Given the description of an element on the screen output the (x, y) to click on. 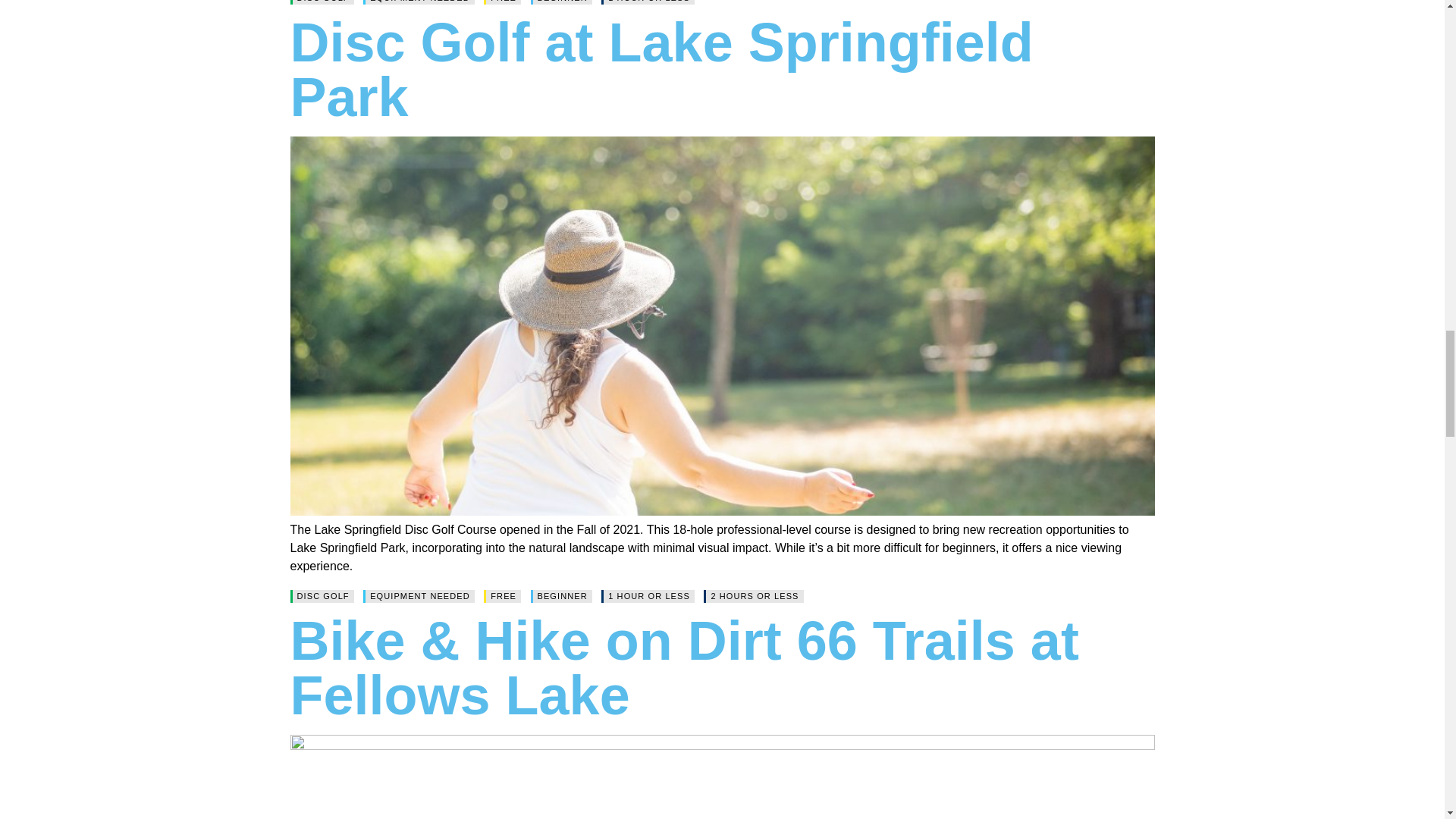
Disc Golf at Lake Springfield Park (660, 69)
